Given the description of an element on the screen output the (x, y) to click on. 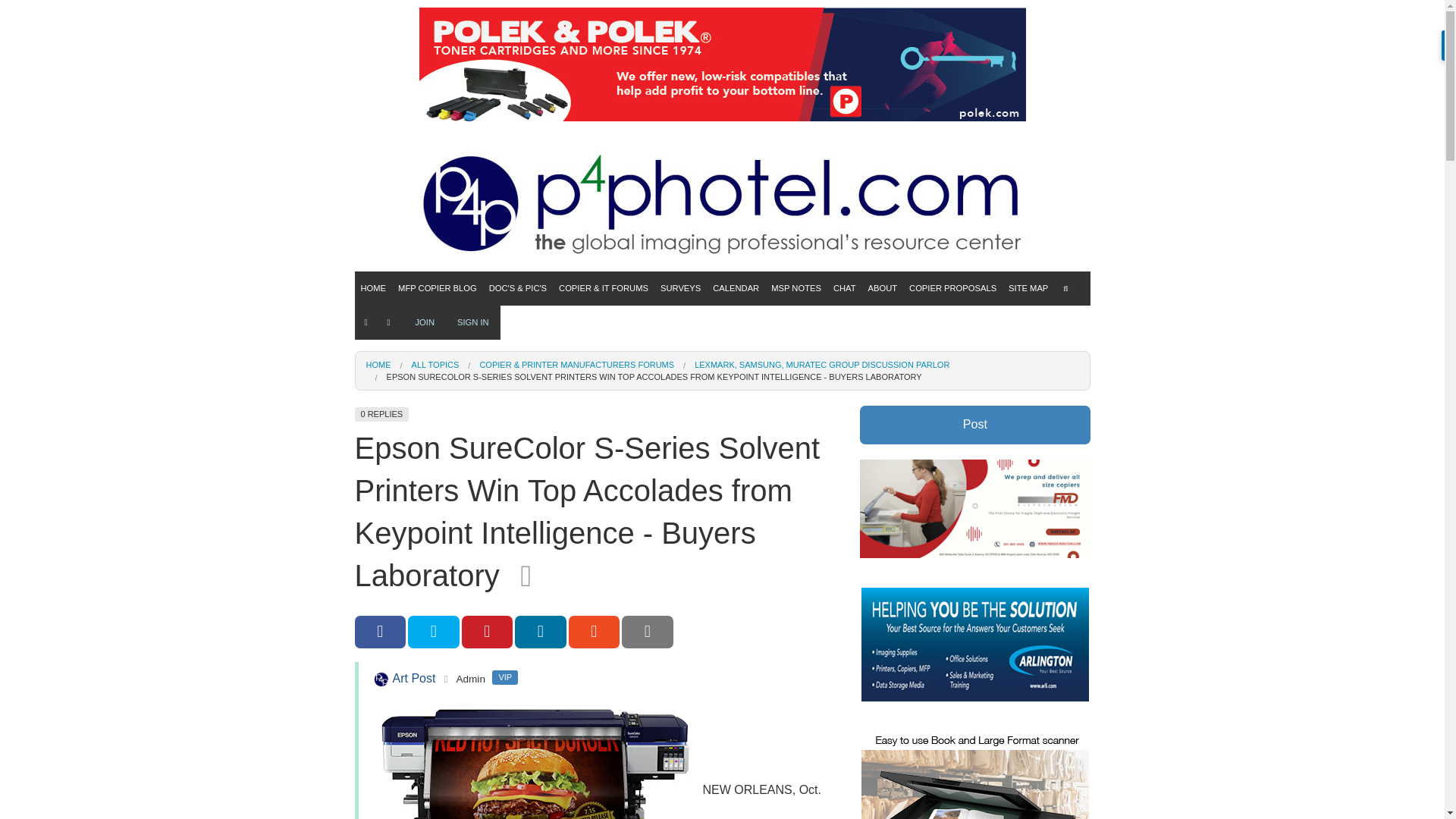
COLLECTIONS (437, 370)
FILES (518, 447)
HOME (374, 288)
IMAGES (518, 370)
MFP COPIER BLOG (437, 288)
Art Post (380, 679)
VIEW ALL (518, 318)
VIEW FEATURED (437, 344)
VIEW ALL (437, 318)
ALL TOPICS (603, 318)
AUDIO (518, 421)
VIDEOS (518, 395)
ALL SETS (518, 344)
